Given the description of an element on the screen output the (x, y) to click on. 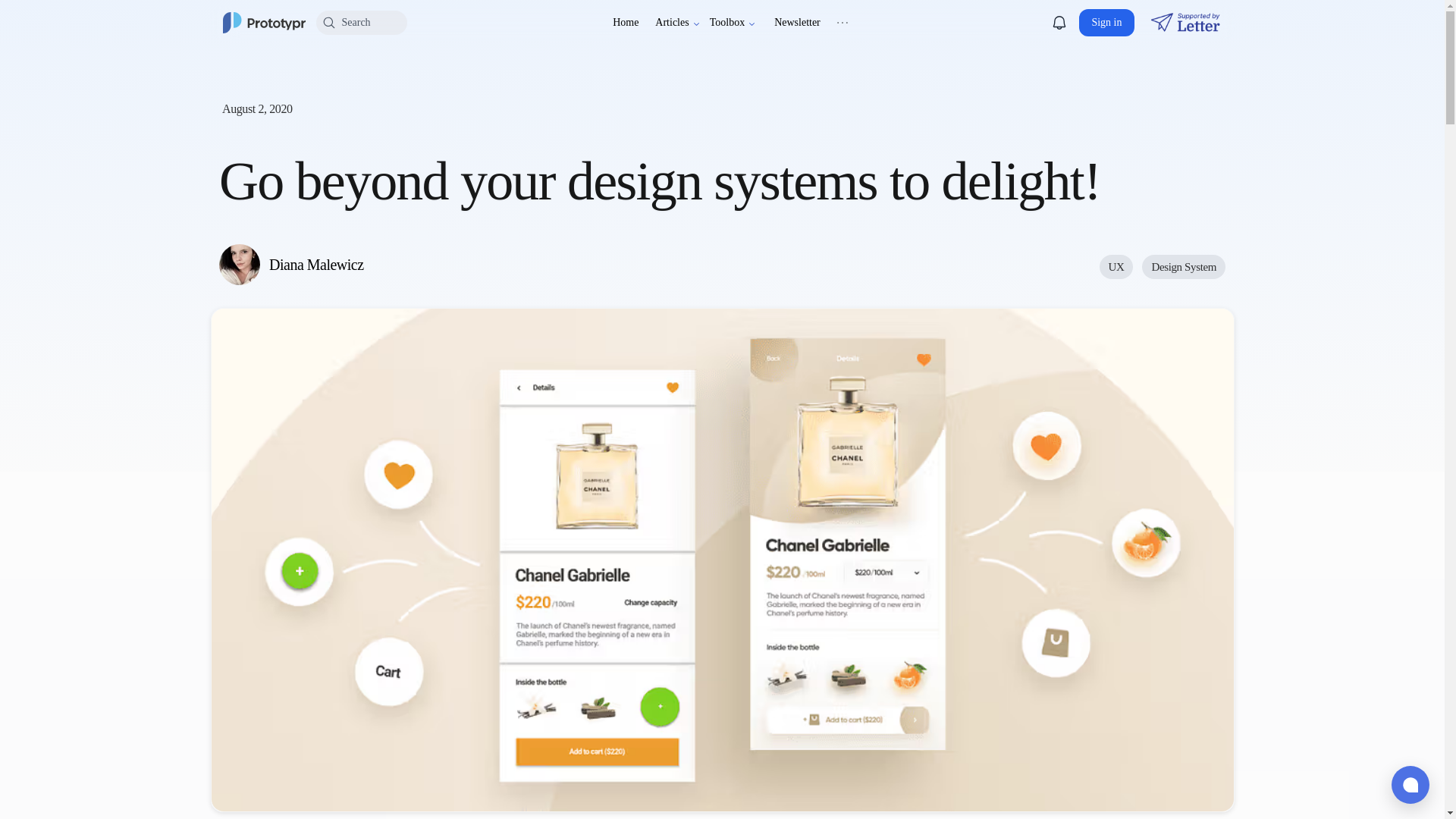
Diana Malewicz (292, 264)
UX (1116, 266)
Design System (1183, 269)
Design System (1183, 266)
Open chat window (1410, 784)
Articles (678, 22)
UX (1120, 269)
Sign in (1106, 22)
Home (625, 22)
Newsletter (797, 22)
Toolbox (733, 22)
